Given the description of an element on the screen output the (x, y) to click on. 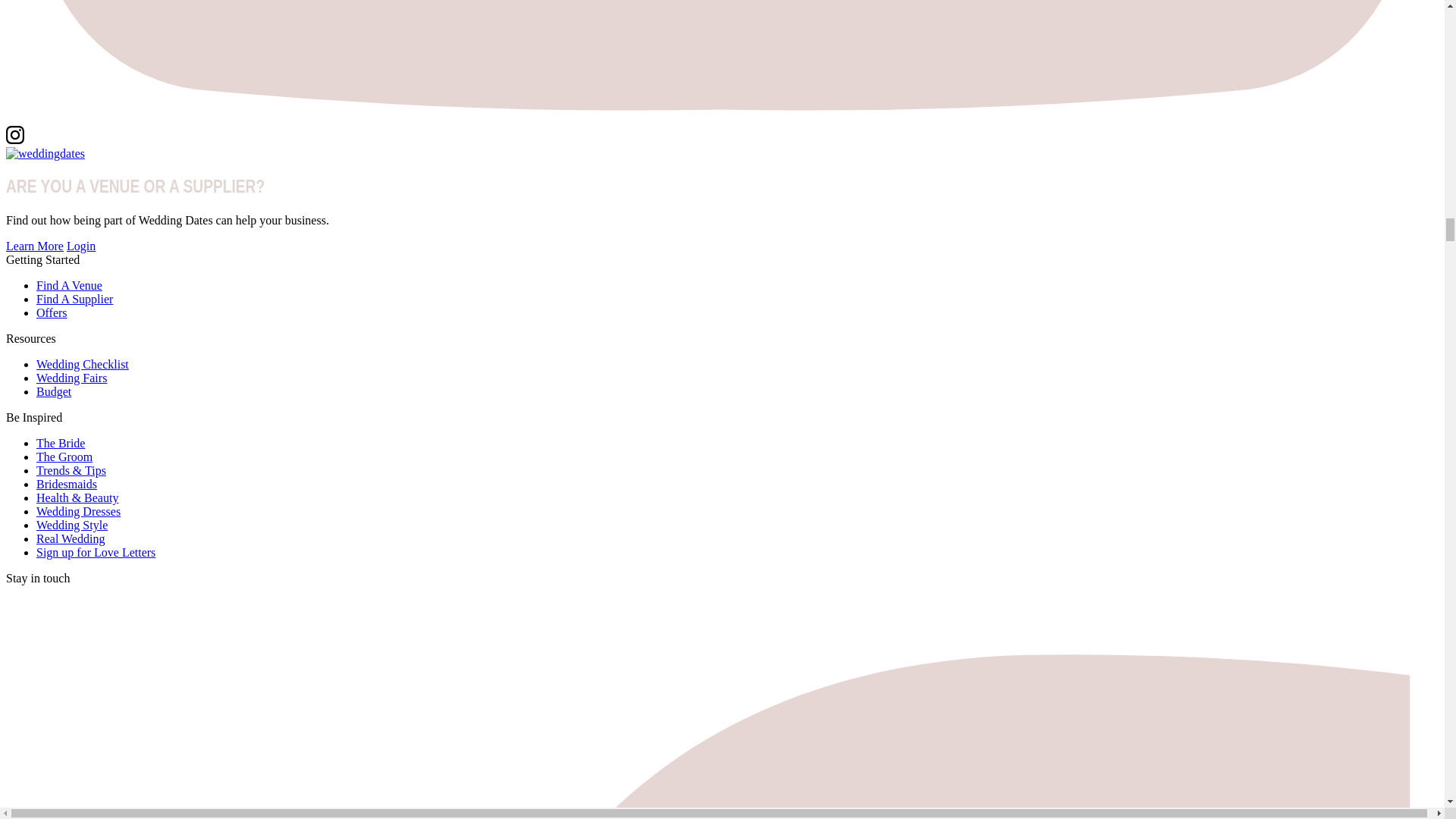
Sign up for Love Letters (95, 552)
Find A Supplier (74, 298)
Budget (53, 391)
Learn More (34, 245)
Bridesmaids (66, 483)
Wedding Dresses (78, 511)
Find A Venue (68, 285)
The Bride (60, 442)
Real Wedding (70, 538)
Wedding Fairs (71, 377)
Wedding Checklist (82, 364)
Offers (51, 312)
weddingdates (44, 153)
Login (81, 245)
The Groom (64, 456)
